Given the description of an element on the screen output the (x, y) to click on. 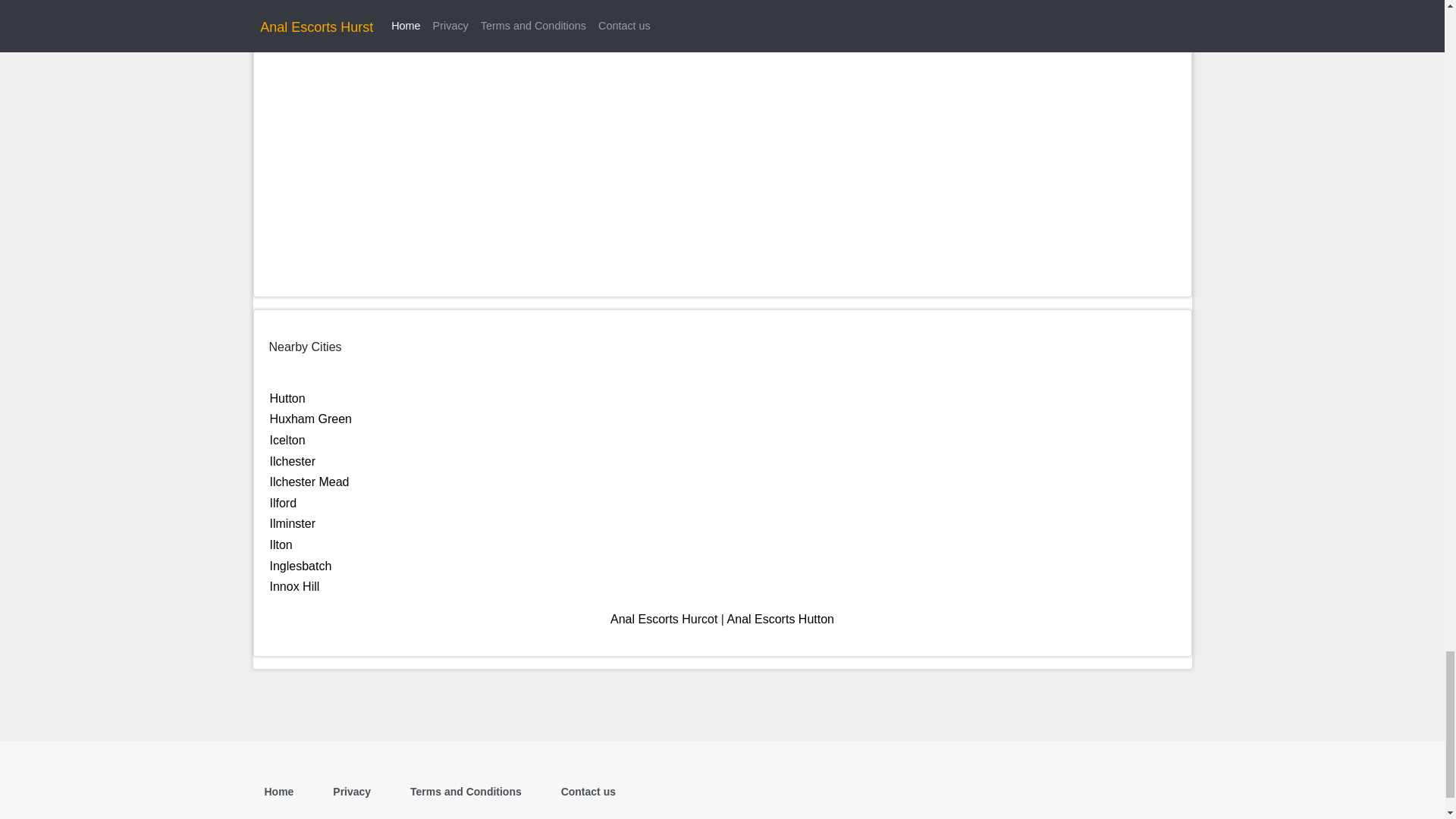
Innox Hill (294, 585)
Anal Escorts Hutton (780, 618)
Inglesbatch (300, 565)
Icelton (287, 440)
Ilchester Mead (309, 481)
Hutton (287, 398)
Huxham Green (310, 418)
Anal Escorts Hurcot (663, 618)
Ilminster (292, 522)
Ilton (280, 544)
Ilchester (292, 461)
Ilford (283, 502)
